Given the description of an element on the screen output the (x, y) to click on. 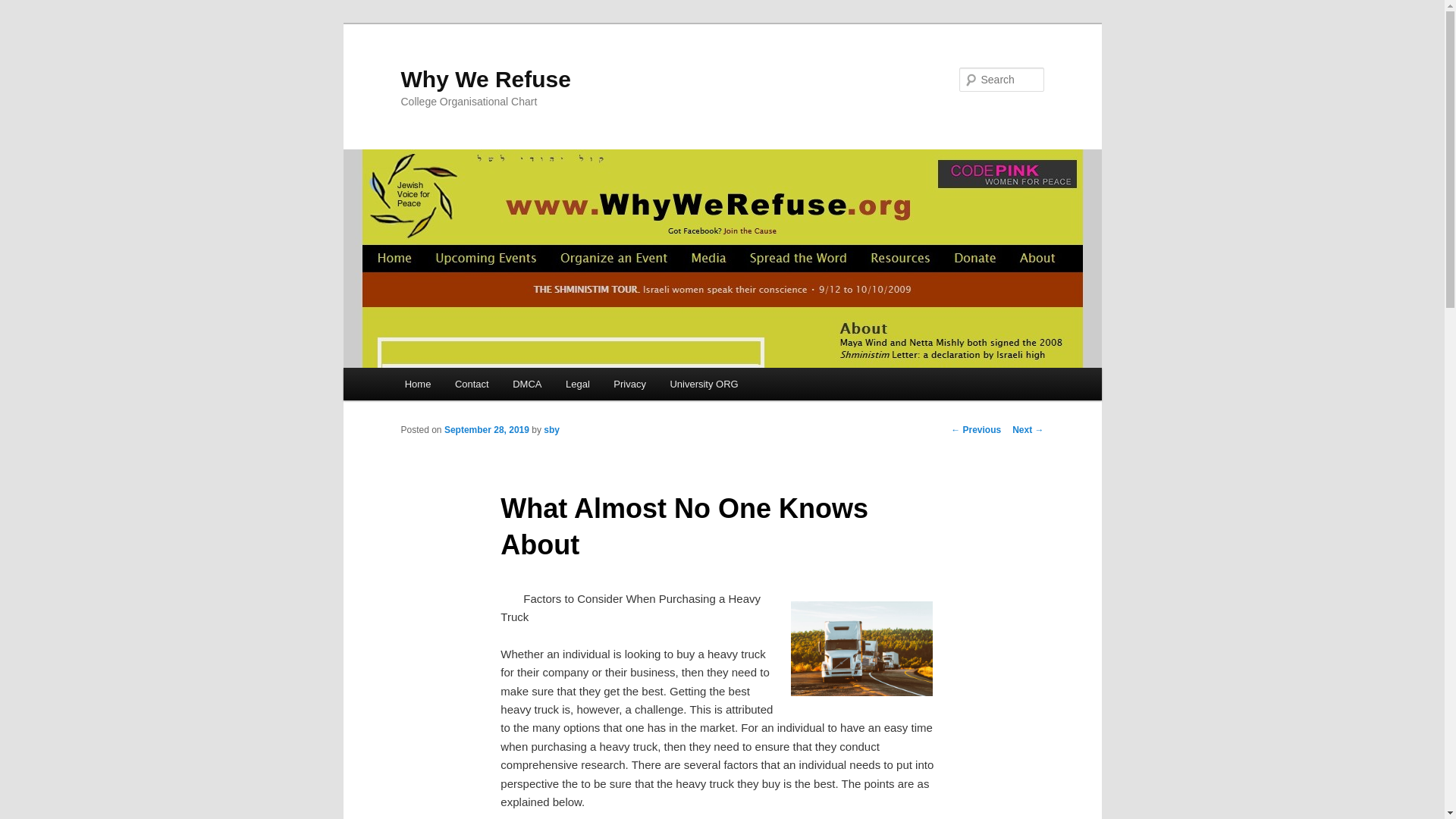
Privacy (630, 383)
September 28, 2019 (486, 429)
DMCA (526, 383)
University ORG (704, 383)
8:31 pm (486, 429)
Search (21, 11)
Legal (577, 383)
Why We Refuse (485, 78)
Home (417, 383)
